Given the description of an element on the screen output the (x, y) to click on. 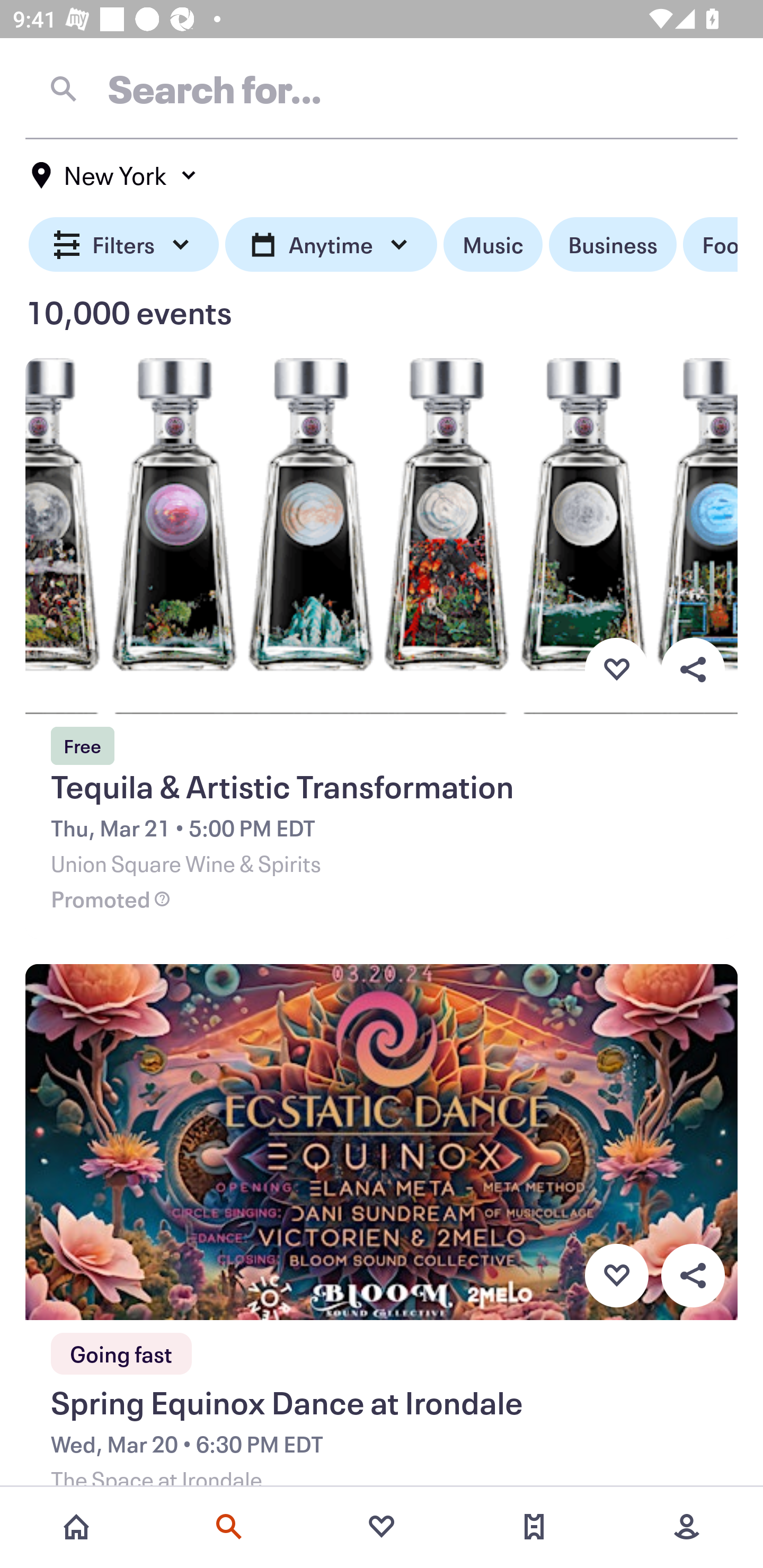
Search for… (381, 88)
New York (114, 175)
Filters (123, 244)
Anytime (331, 244)
Music (492, 244)
Business (612, 244)
Favorite button (616, 669)
Overflow menu button (692, 669)
Favorite button (616, 1275)
Overflow menu button (692, 1275)
Home (76, 1526)
Search events (228, 1526)
Favorites (381, 1526)
Tickets (533, 1526)
More (686, 1526)
